Given the description of an element on the screen output the (x, y) to click on. 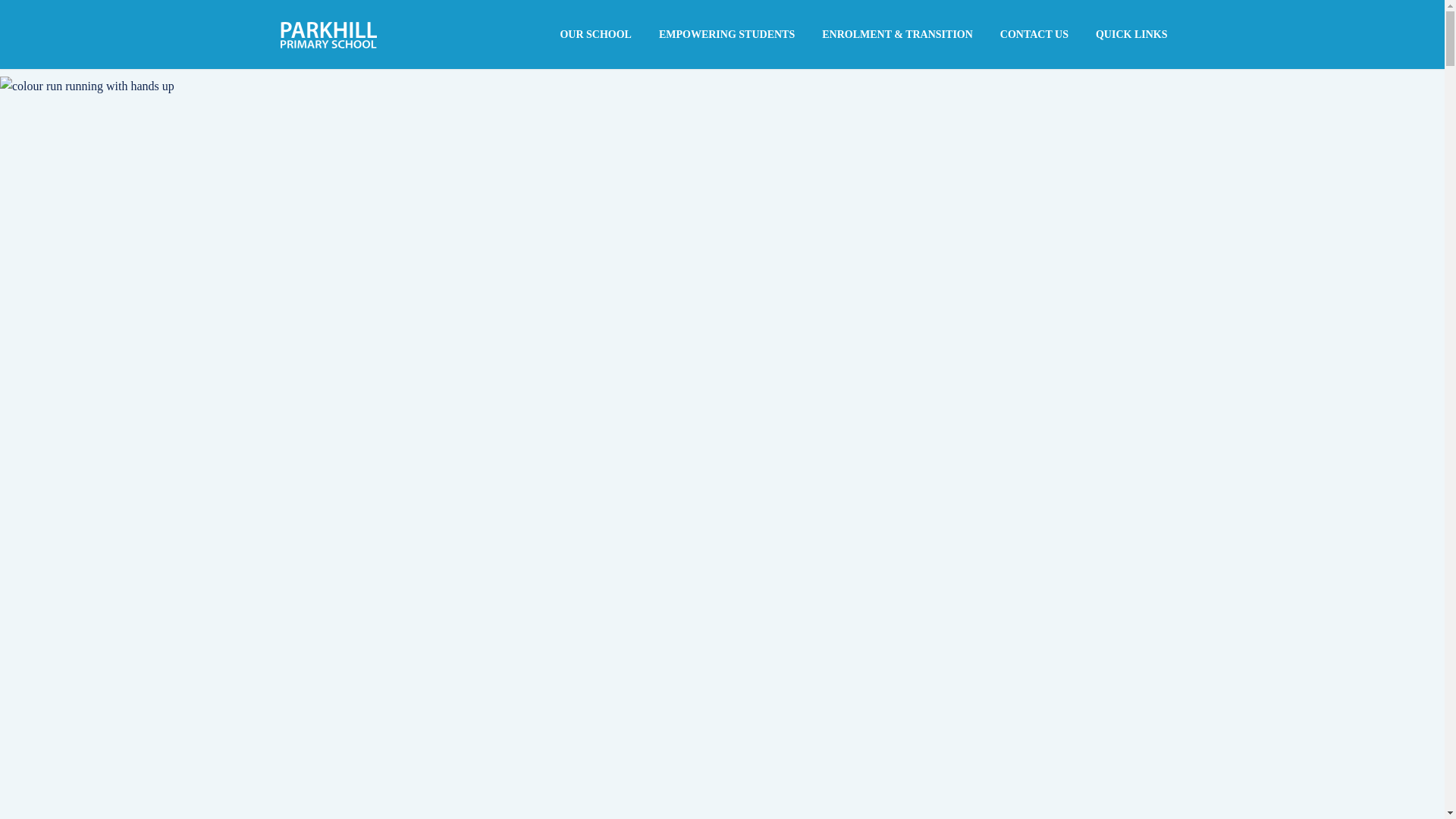
OUR SCHOOL (595, 34)
EMPOWERING STUDENTS (726, 34)
CONTACT US (1034, 34)
QUICK LINKS (1131, 34)
